Given the description of an element on the screen output the (x, y) to click on. 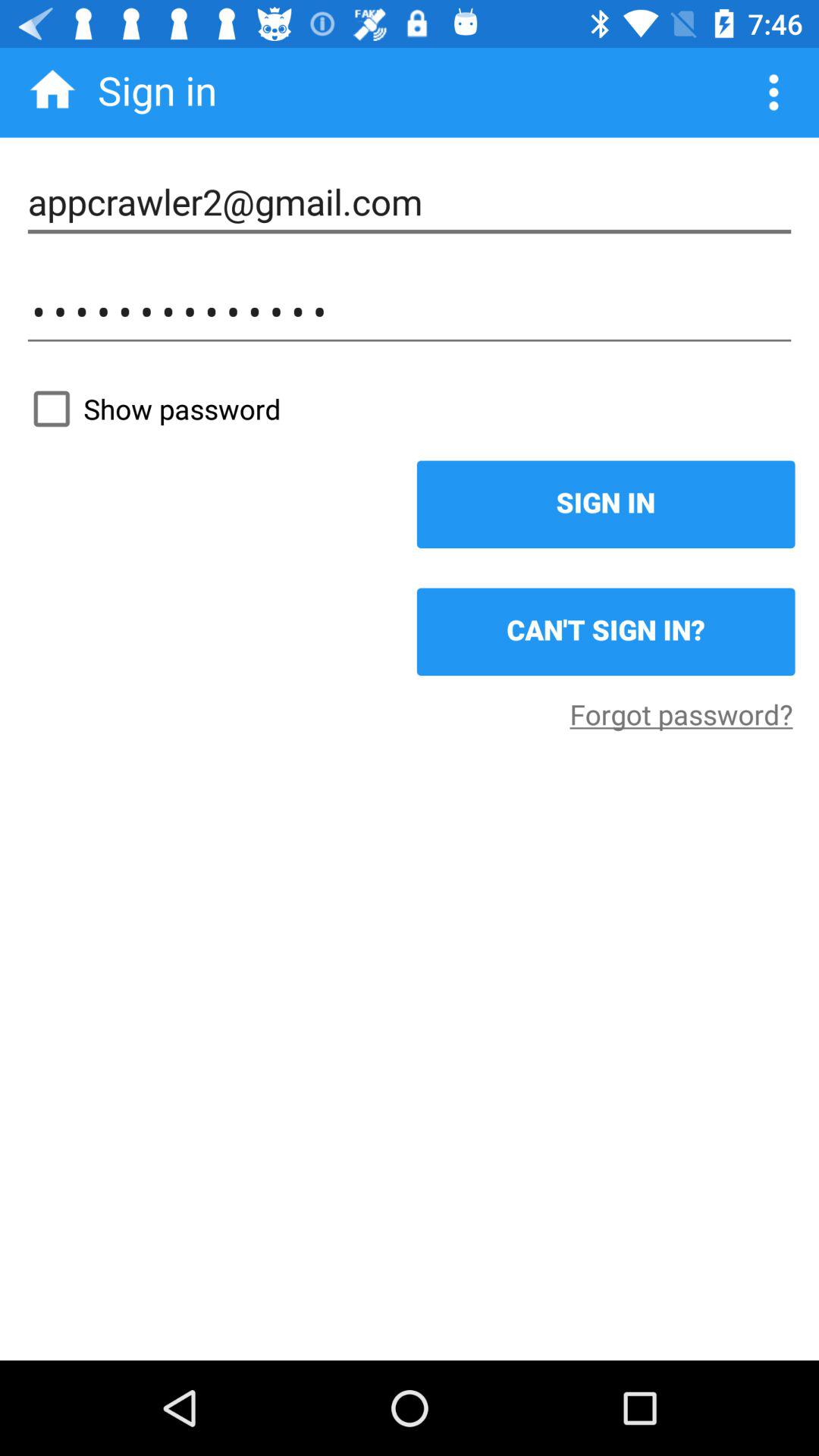
turn on icon above show password (409, 312)
